Given the description of an element on the screen output the (x, y) to click on. 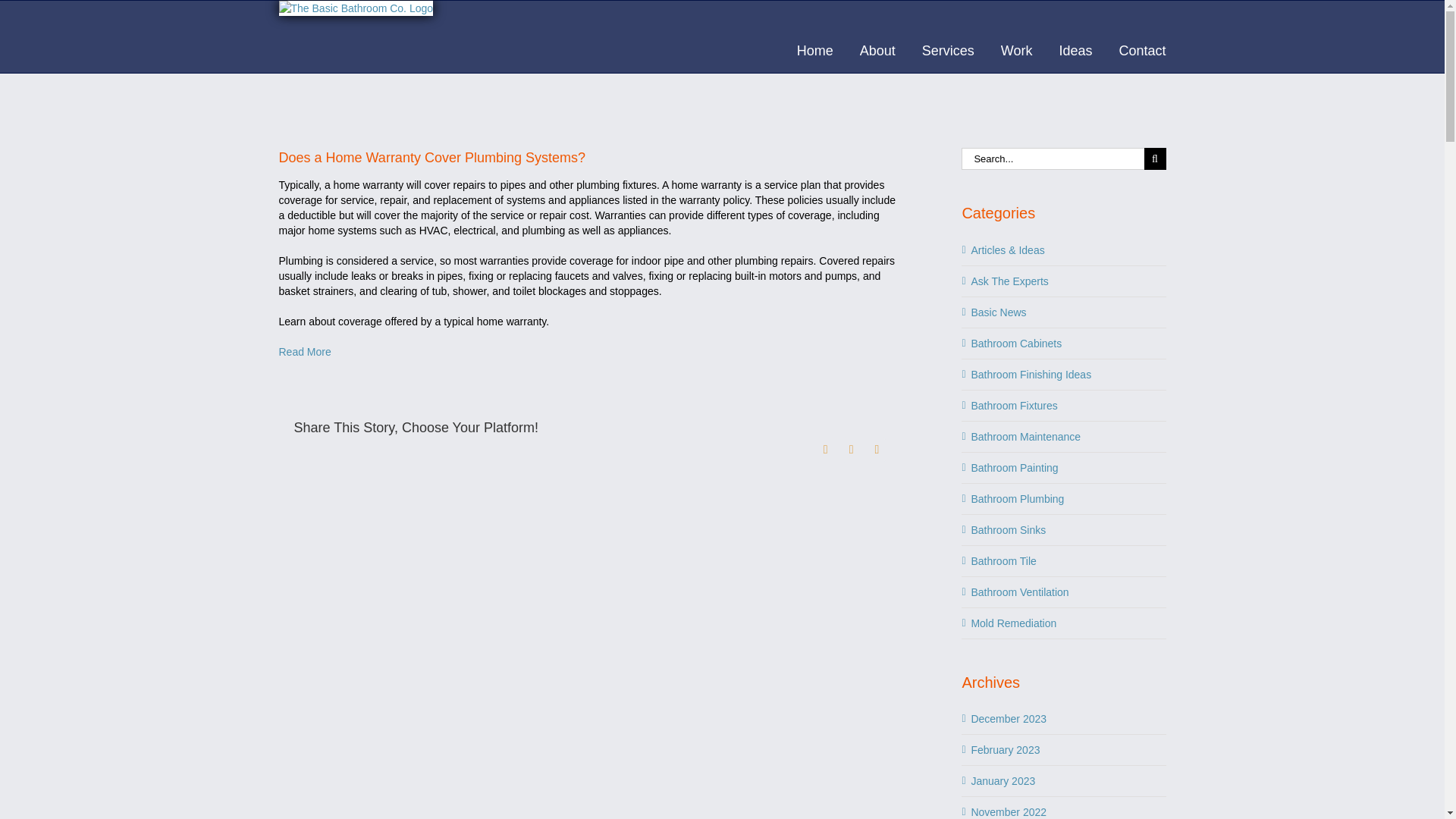
Bathroom Painting (1064, 467)
Basic News (1064, 312)
Bathroom Plumbing (1064, 498)
Bathroom Cabinets (1064, 343)
Bathroom Ventilation (1064, 591)
Mold Remediation (1064, 622)
February 2023 (1005, 749)
Ask The Experts (1064, 281)
December 2023 (1008, 718)
Bathroom Maintenance (1064, 436)
